Given the description of an element on the screen output the (x, y) to click on. 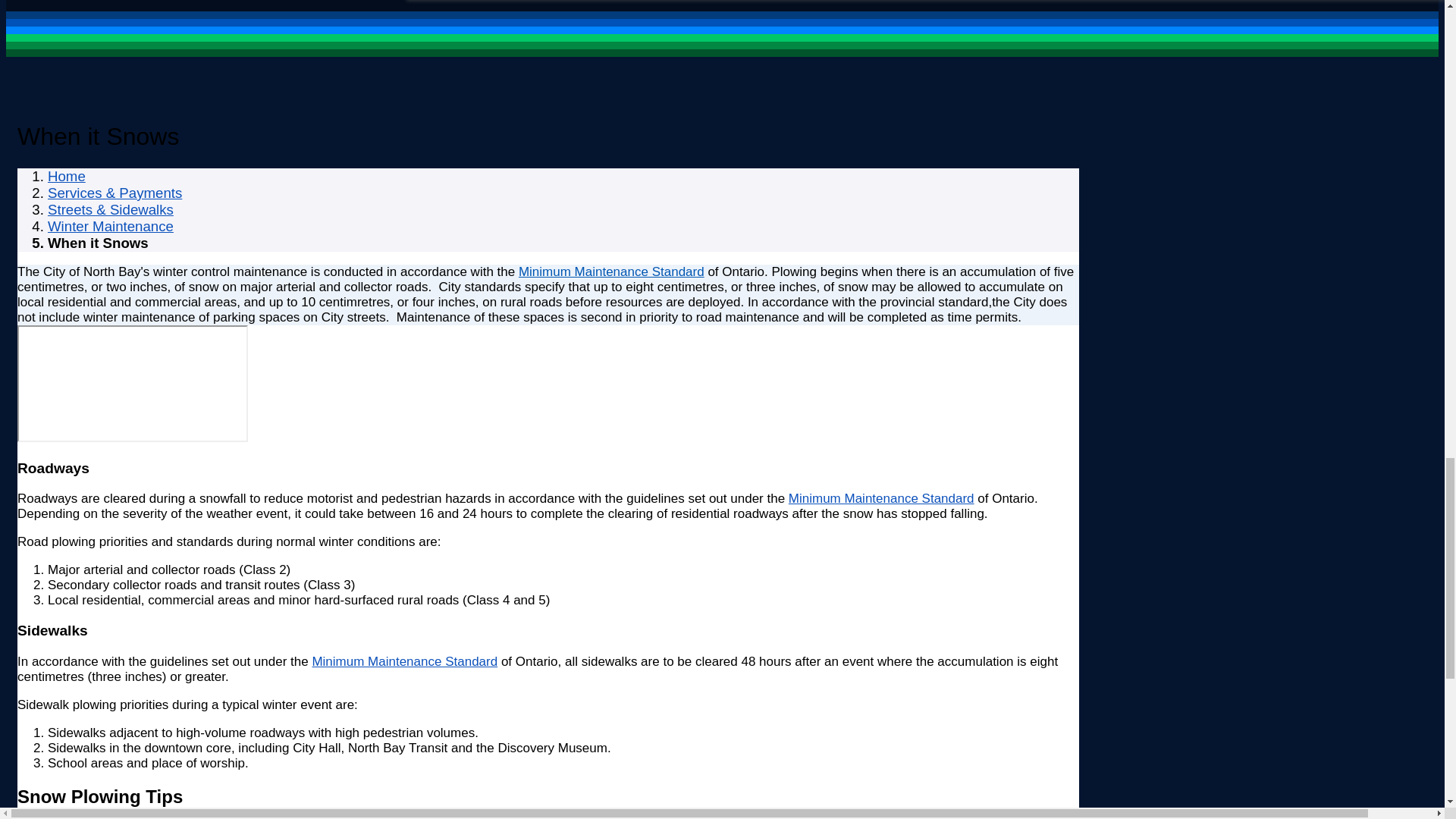
MMS (881, 498)
MMS (611, 271)
MMS (404, 661)
